Given the description of an element on the screen output the (x, y) to click on. 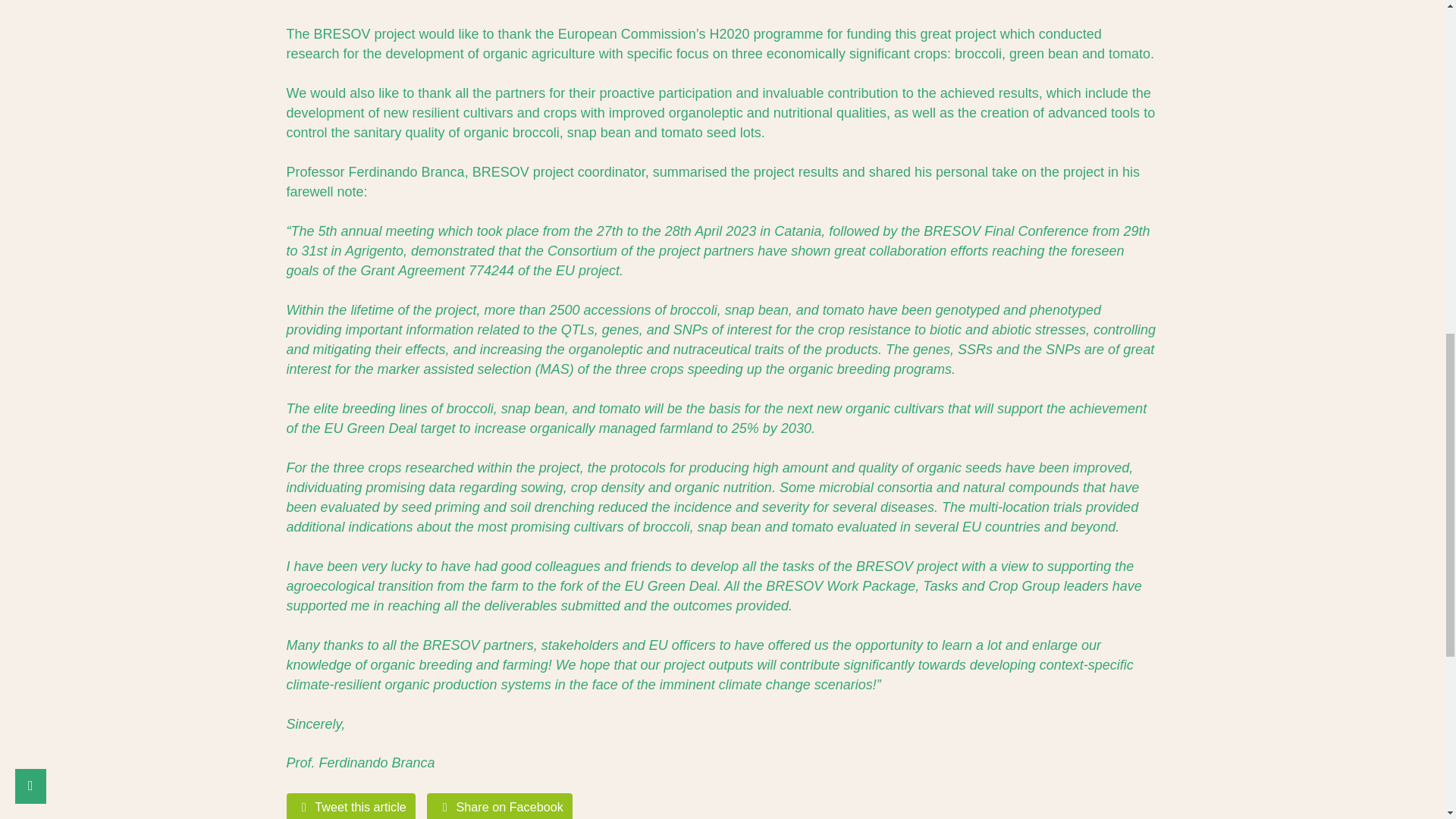
Tweet this article (351, 806)
Tweet this article (351, 806)
Share on Facebook (499, 806)
Share on Facebook (499, 806)
